Given the description of an element on the screen output the (x, y) to click on. 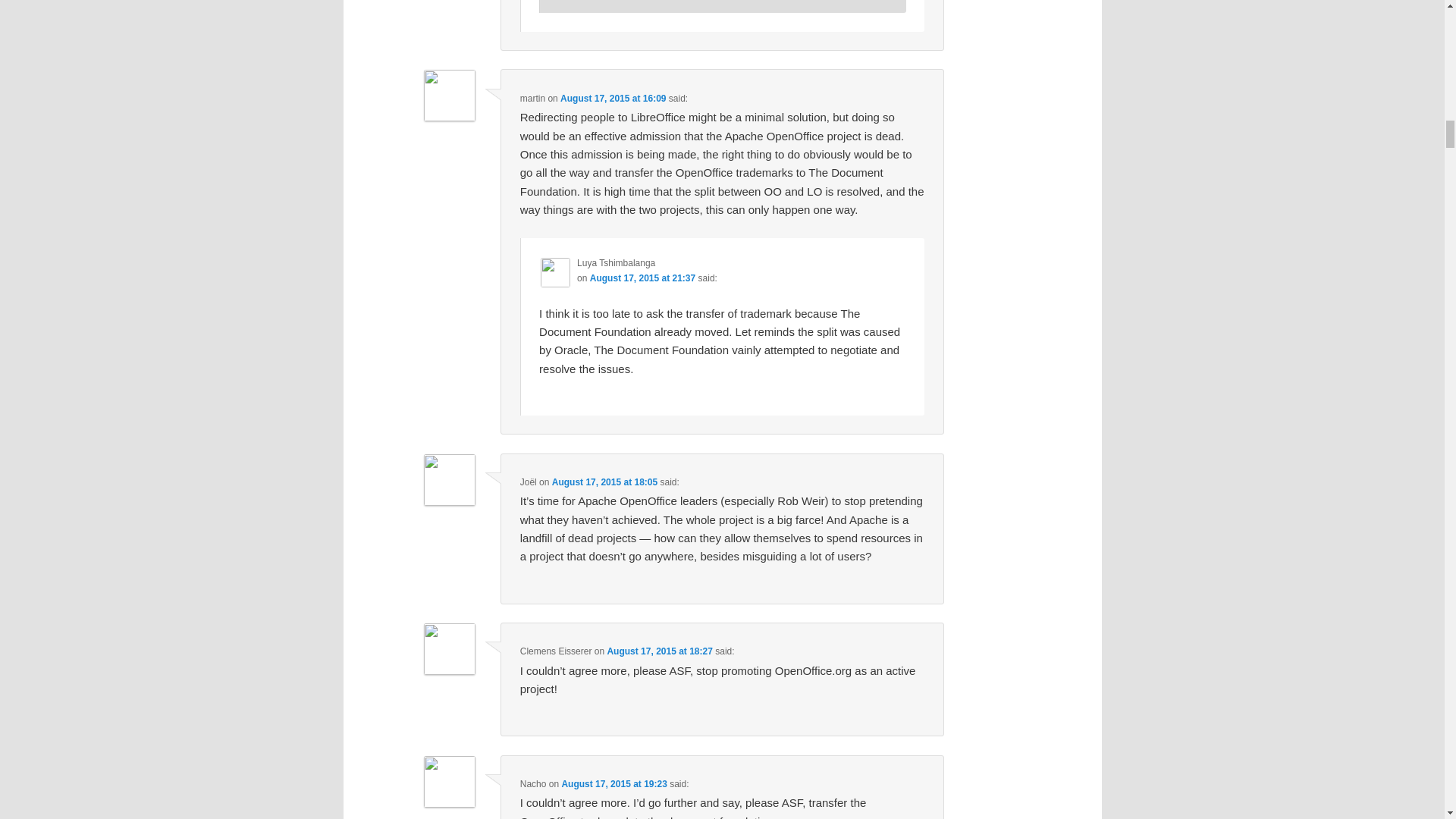
August 17, 2015 at 16:09 (612, 98)
August 17, 2015 at 18:27 (659, 651)
August 17, 2015 at 21:37 (642, 277)
August 17, 2015 at 19:23 (613, 783)
August 17, 2015 at 18:05 (604, 481)
